Given the description of an element on the screen output the (x, y) to click on. 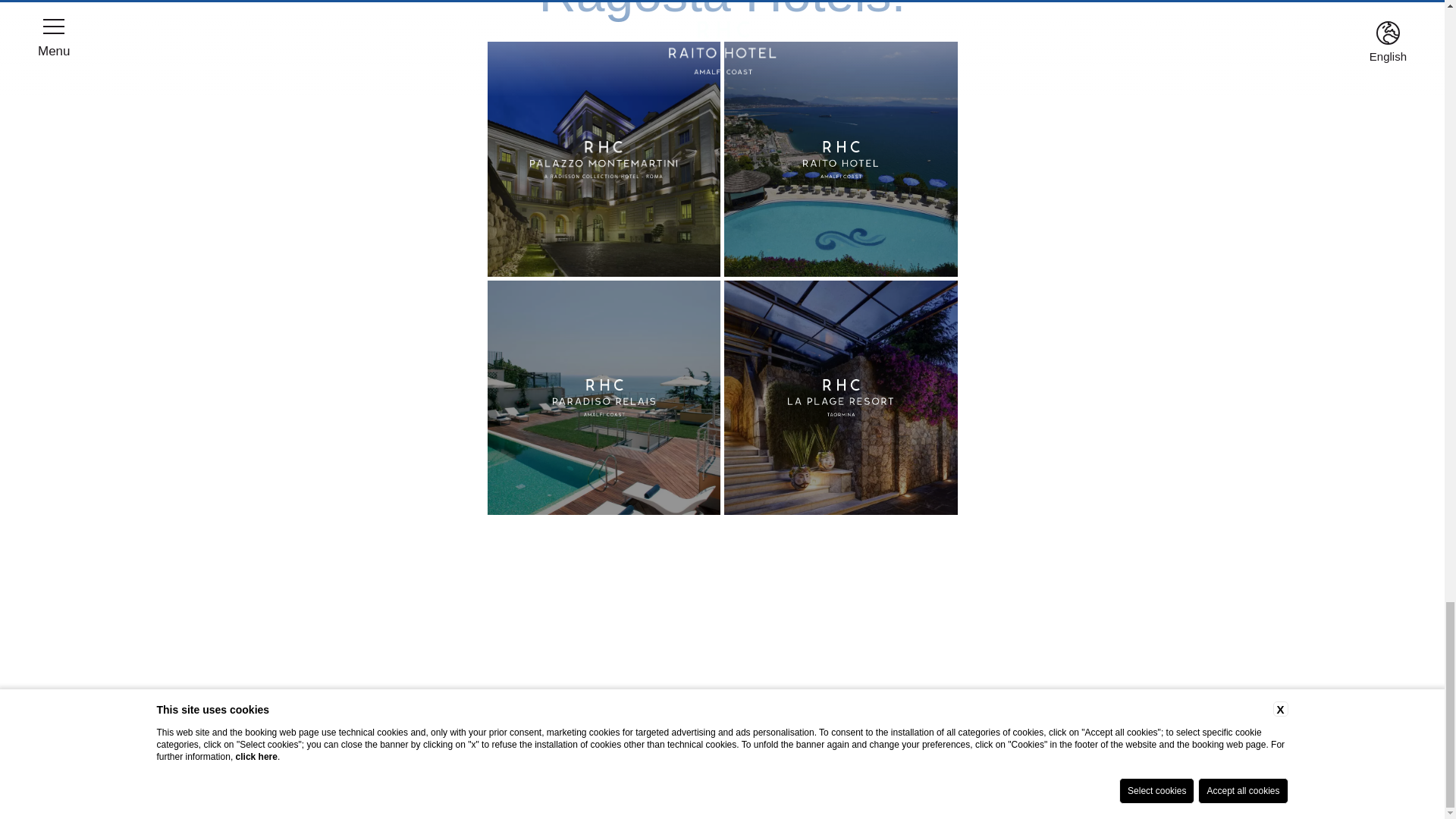
Palazzo MontemartiniLogo (603, 158)
La Plage ResortLogo (840, 397)
Palazzo MontemartiniLogo (603, 159)
Hotel RaitoLogo (840, 158)
Hotel RaitoLogo (840, 159)
Paradiso RelaisLogo (604, 397)
Paradiso RelaisLogo (603, 397)
